Given the description of an element on the screen output the (x, y) to click on. 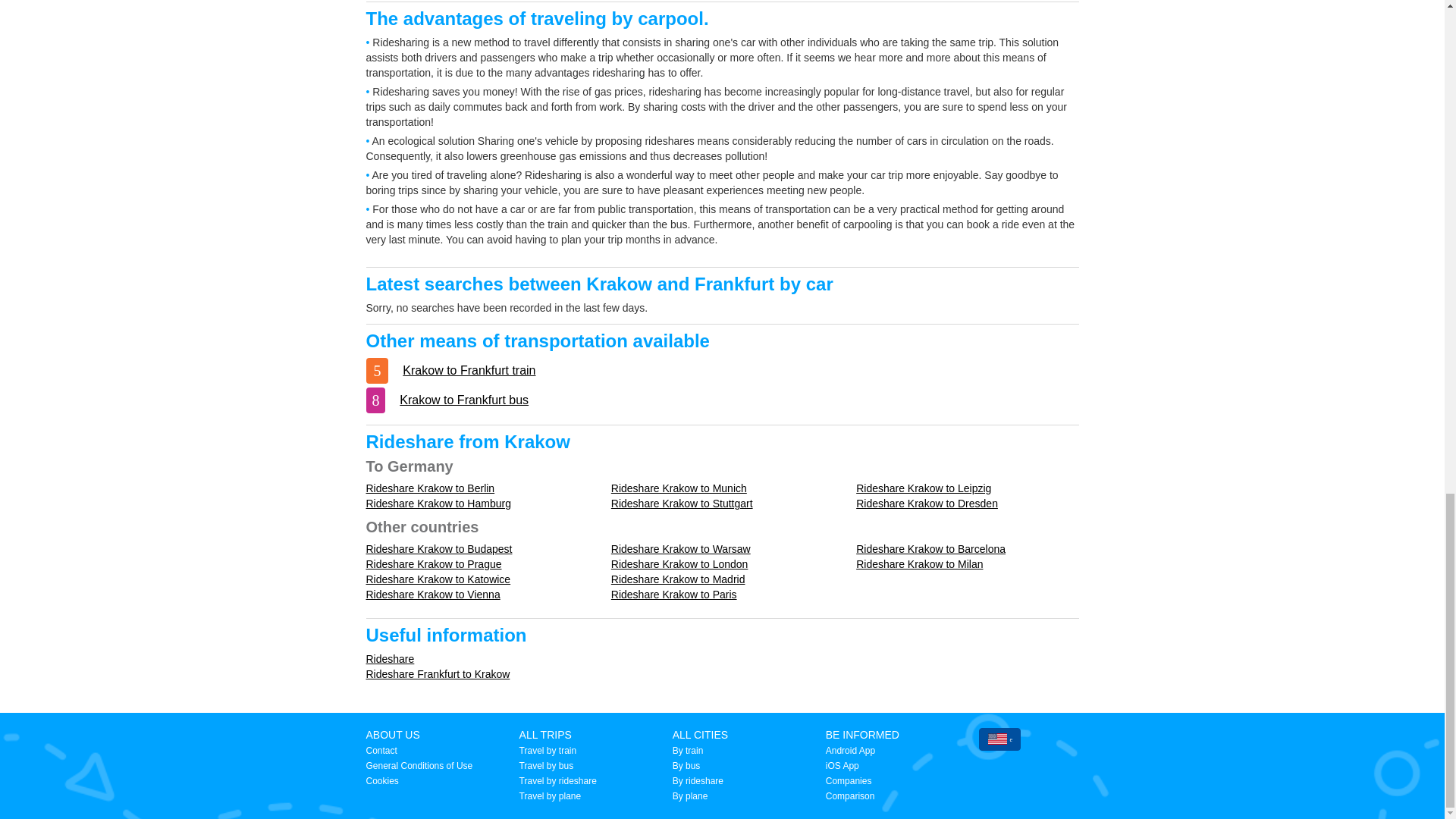
Rideshare Krakow to Katowice (438, 579)
Travel by train (547, 750)
Rideshare Krakow to Prague (432, 563)
Travel by bus (546, 765)
Rideshare Krakow to Budapest (438, 548)
Rideshare Krakow to Barcelona (931, 548)
Rideshare Krakow to Leipzig (923, 488)
Rideshare Krakow to Milan (919, 563)
Rideshare Krakow to Dresden (926, 503)
Rideshare Krakow to Berlin (430, 488)
Rideshare Krakow to London (679, 563)
Krakow to Frankfurt bus (463, 400)
Rideshare Krakow to Hamburg (438, 503)
Rideshare (389, 658)
General Conditions of Use (418, 765)
